Given the description of an element on the screen output the (x, y) to click on. 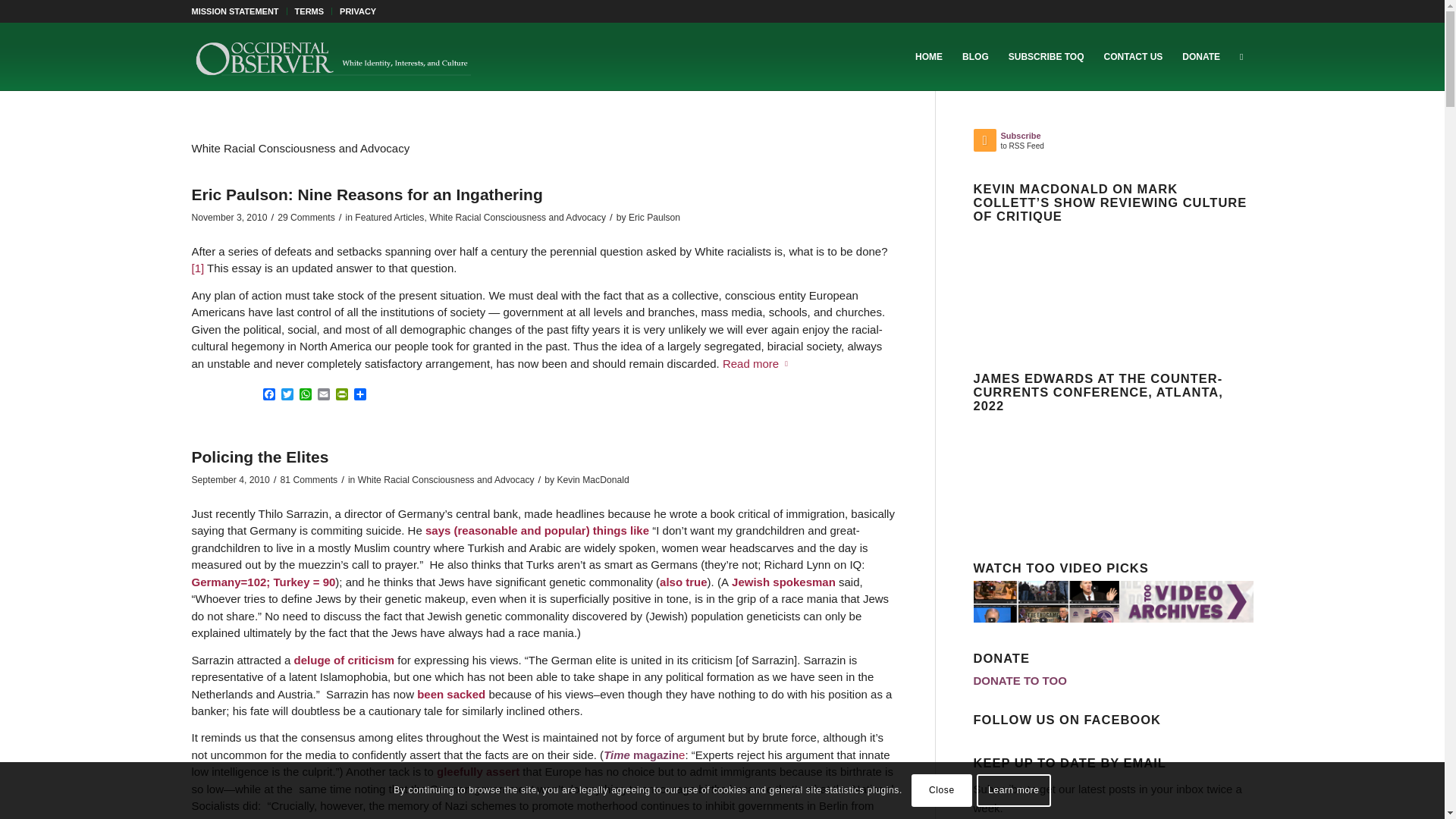
Posts by Eric Paulson (653, 217)
White Racial Consciousness and Advocacy (446, 480)
WhatsApp (304, 395)
81 Comments (309, 480)
PrintFriendly (340, 395)
Policing the Elites (259, 456)
PrintFriendly (340, 395)
WhatsApp (304, 395)
MISSION STATEMENT (234, 11)
Facebook (268, 395)
Twitter (286, 395)
Email (322, 395)
also true (683, 581)
TERMS (309, 11)
Eric Paulson: Nine Reasons for an Ingathering (365, 194)
